Given the description of an element on the screen output the (x, y) to click on. 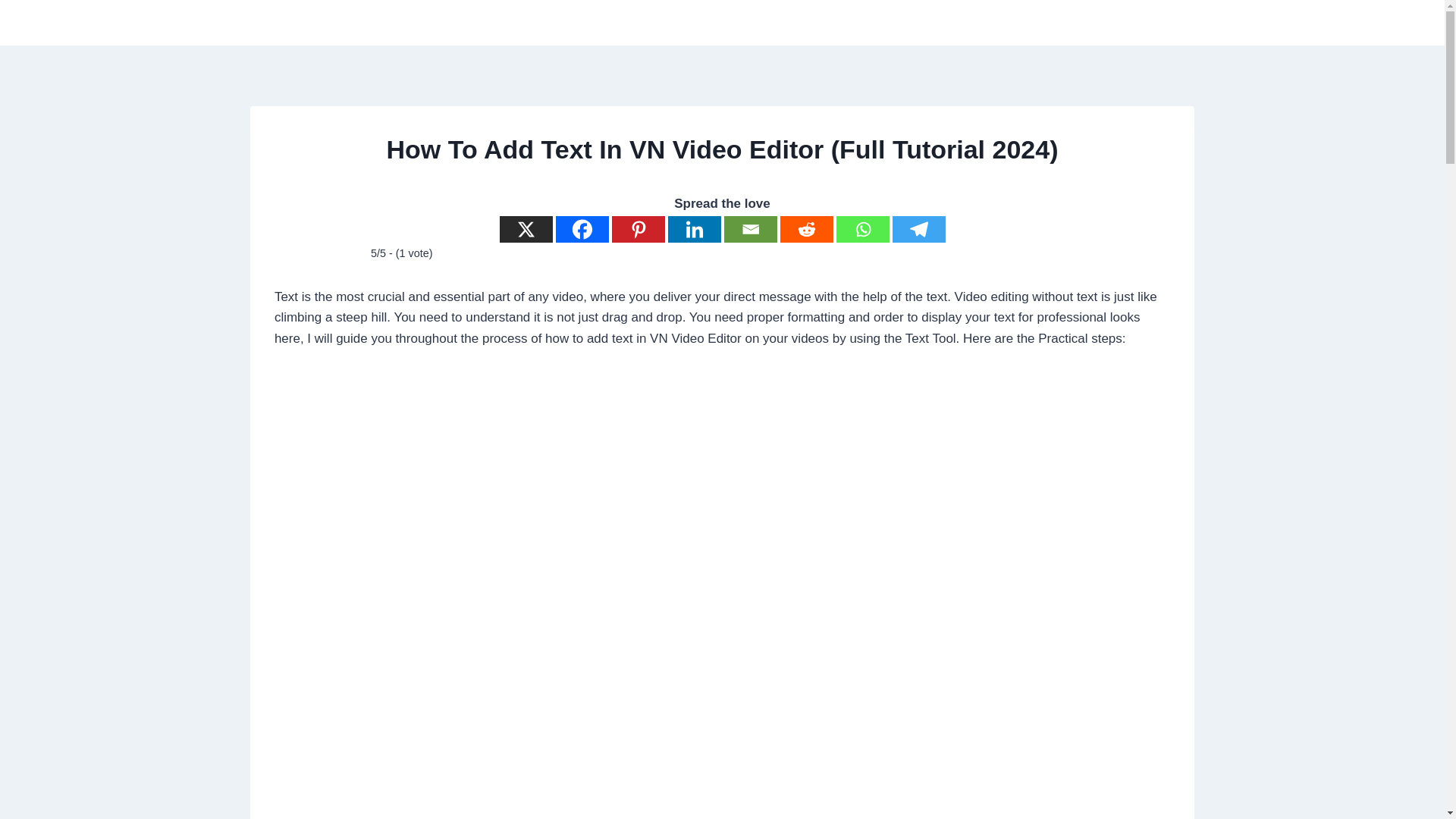
Telegram (917, 229)
Pinterest (637, 229)
Facebook (581, 229)
Linkedin (693, 229)
Reddit (805, 229)
Email (749, 229)
X (525, 229)
Whatsapp (861, 229)
